Given the description of an element on the screen output the (x, y) to click on. 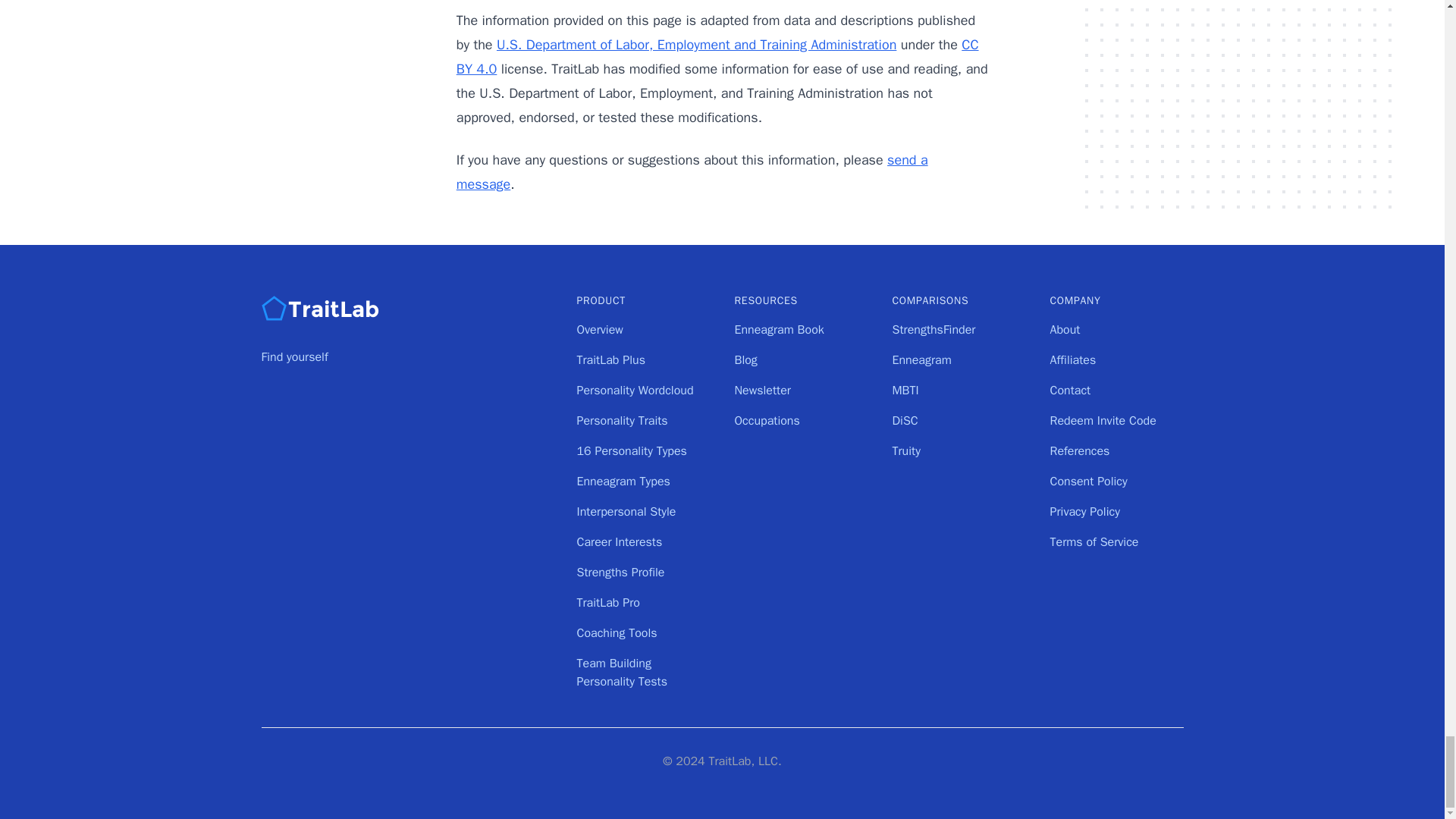
Personality Wordcloud (634, 390)
Enneagram Types (622, 481)
TraitLab Plus (610, 359)
16 Personality Types (630, 450)
Personality Traits (621, 420)
CC BY 4.0 (717, 56)
Career Interests (619, 541)
Interpersonal Style (625, 511)
send a message (692, 171)
Overview (599, 329)
